Given the description of an element on the screen output the (x, y) to click on. 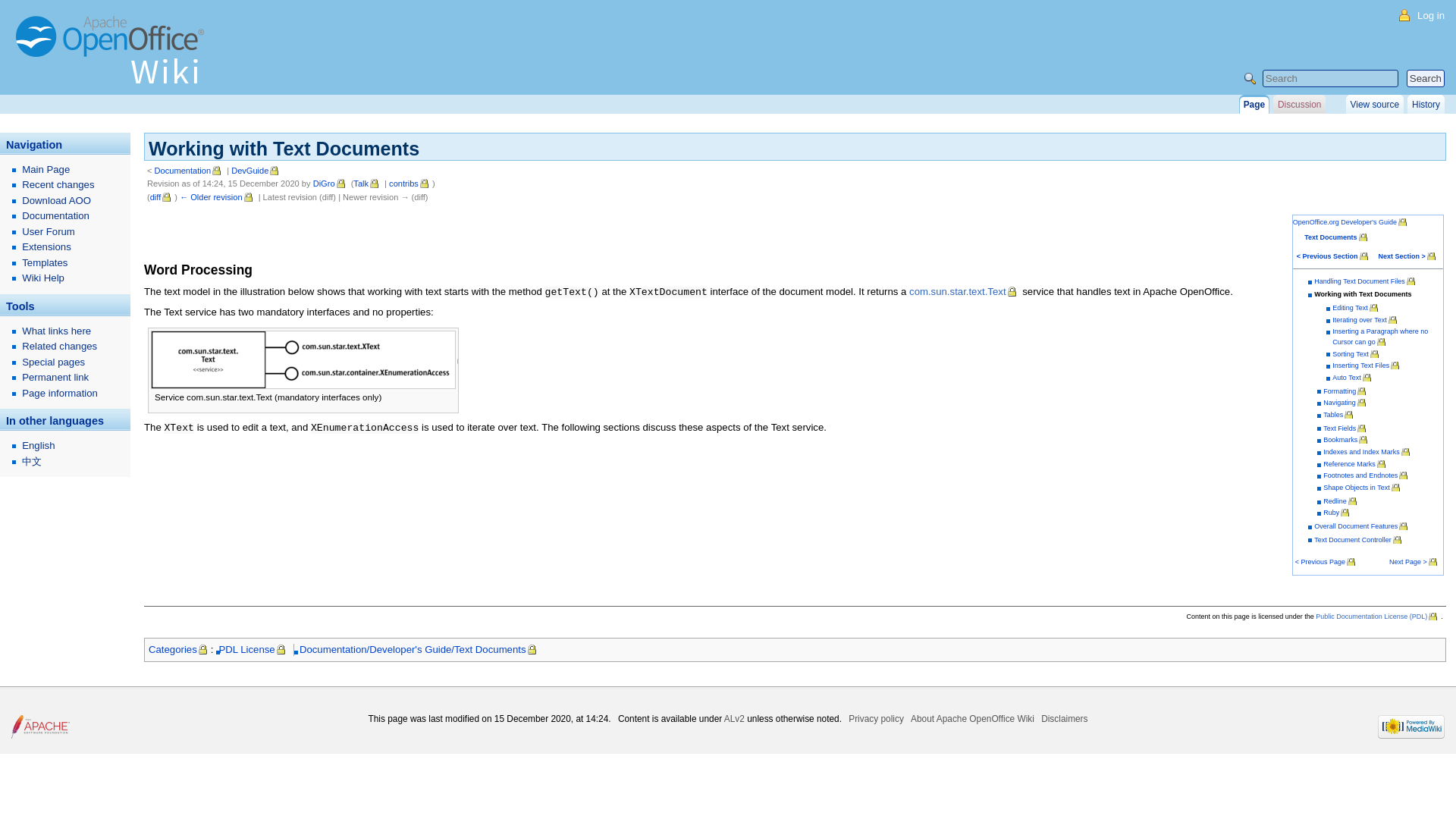
Inserting Text Files (1366, 365)
Documentation (189, 170)
DiGro (330, 183)
Search (1425, 77)
Iterating over Text (1364, 319)
Reference Marks (1355, 463)
Navigating (1345, 402)
Talk (366, 183)
Search (1425, 77)
Tables (1339, 414)
Sorting Text (1356, 353)
User talk:DiGro (366, 183)
Indexes and Index Marks (1367, 451)
Footnotes and Endnotes (1366, 475)
Bookmarks (1346, 439)
